Given the description of an element on the screen output the (x, y) to click on. 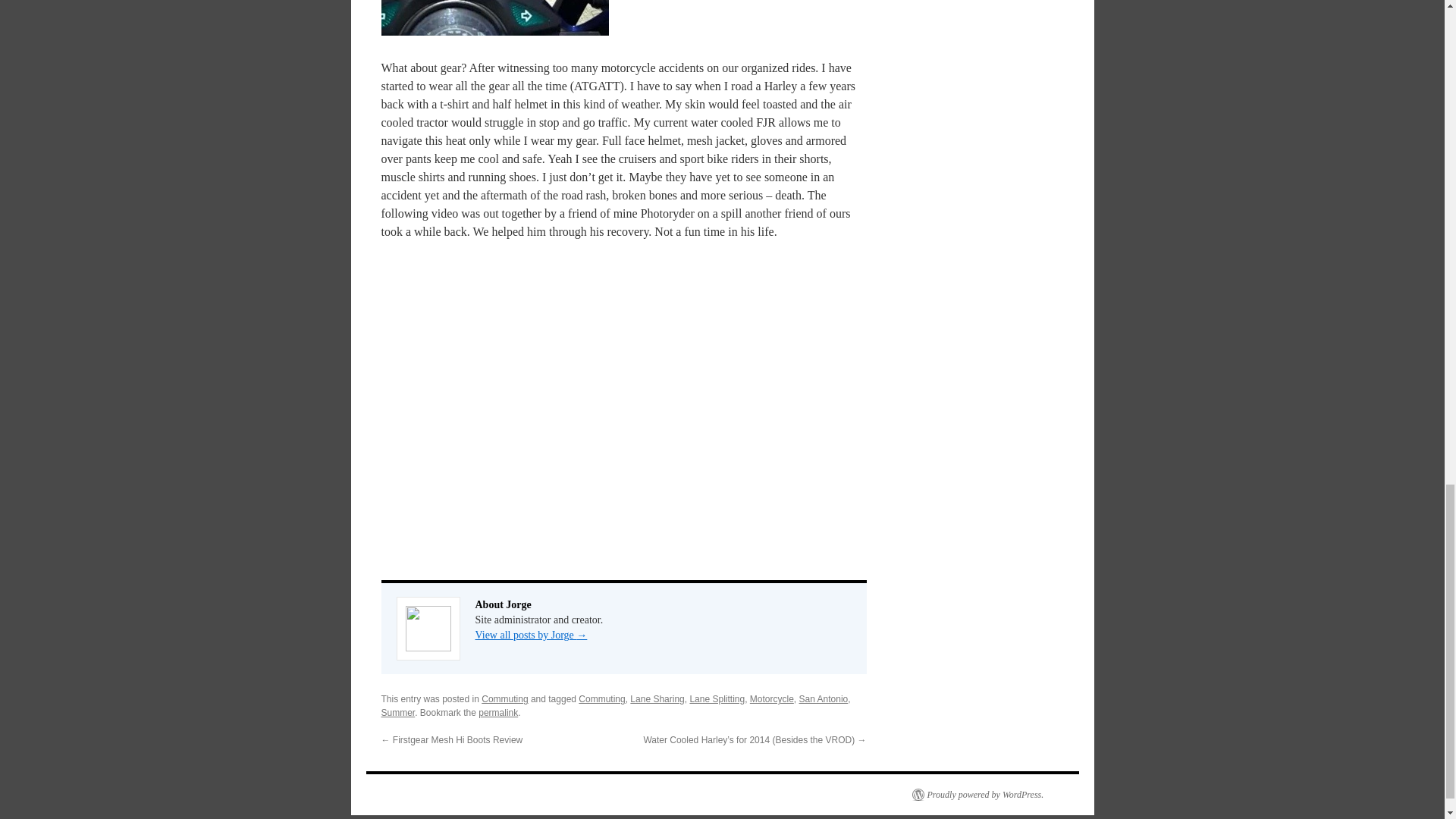
Lane Splitting (716, 698)
permalink (498, 712)
Summer (397, 712)
Semantic Personal Publishing Platform (977, 794)
Permalink to Central Texas Summertime Commuting (498, 712)
Lane Sharing (657, 698)
San Antonio (823, 698)
Commuting (504, 698)
Motorcycle (771, 698)
Commuting (601, 698)
